Given the description of an element on the screen output the (x, y) to click on. 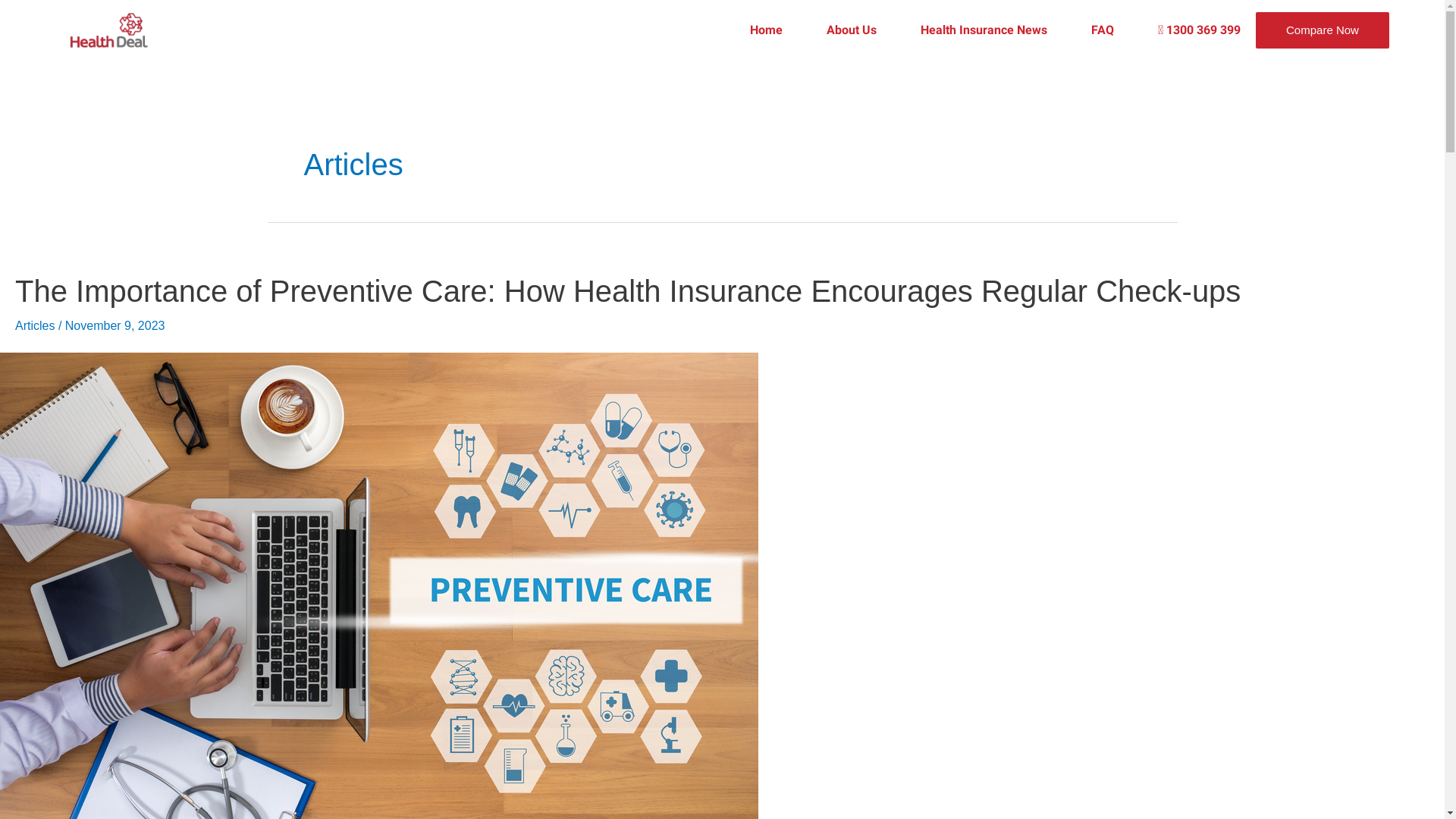
Health Insurance News Element type: text (961, 29)
Compare Now Element type: text (1322, 30)
Home Element type: text (744, 29)
Articles Element type: text (34, 325)
About Us Element type: text (829, 29)
FAQ Element type: text (1080, 29)
